Given the description of an element on the screen output the (x, y) to click on. 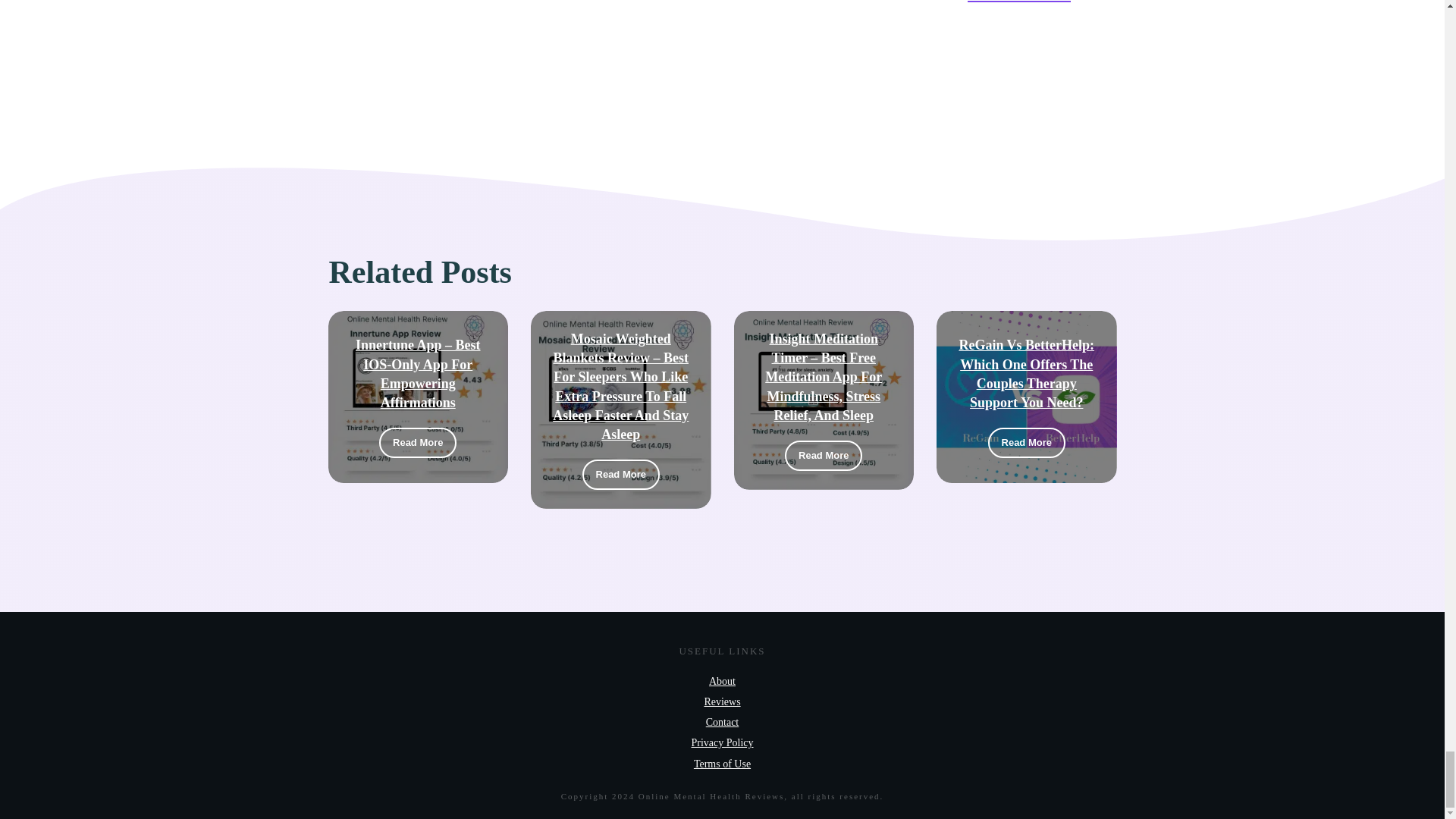
Read More (417, 442)
COMMENT (1019, 1)
Read More (620, 474)
Read More (822, 455)
